Given the description of an element on the screen output the (x, y) to click on. 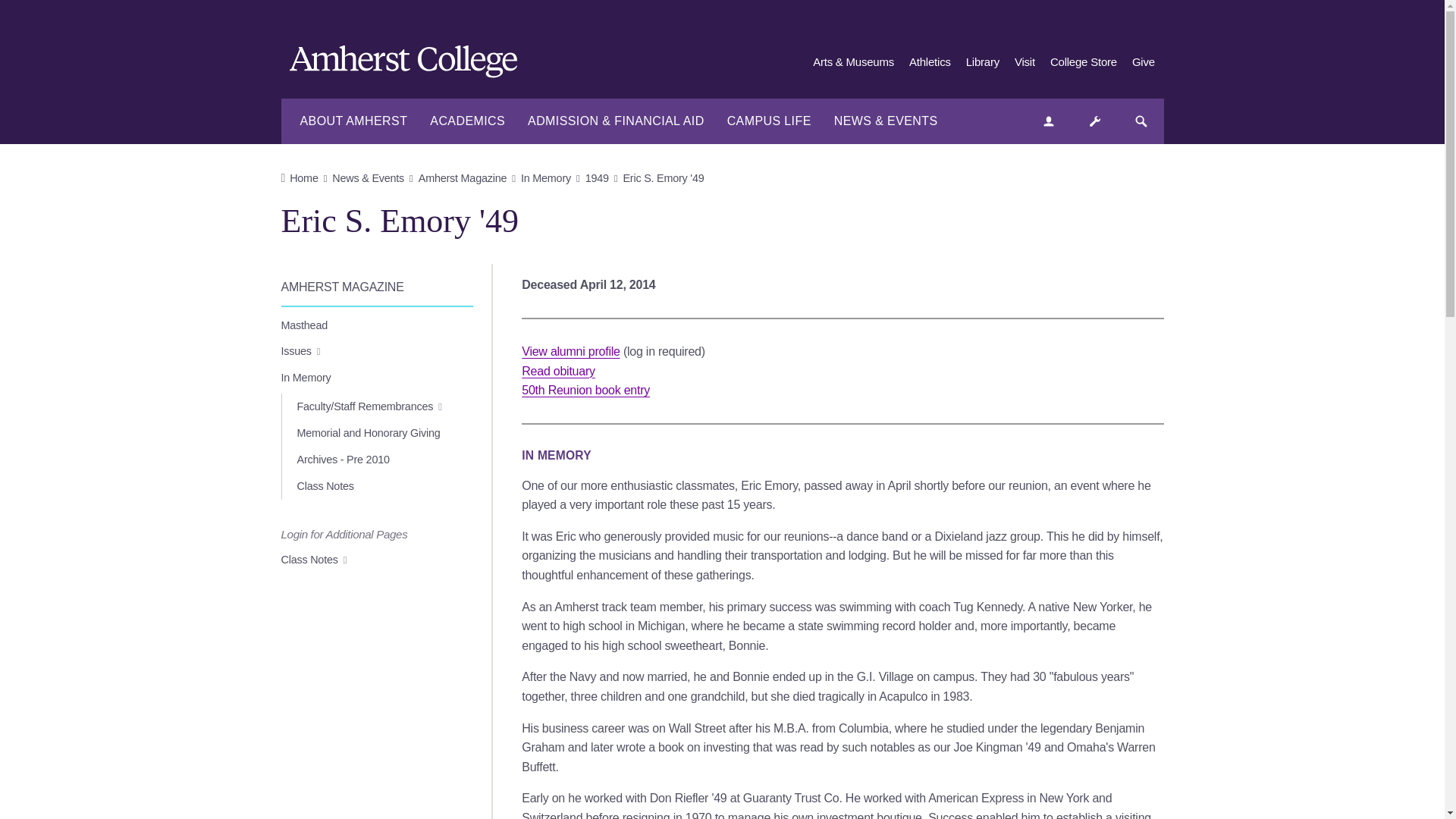
ACADEMICS (467, 121)
Amherst College (410, 64)
Athletics (929, 62)
Visit (1024, 62)
College Store (1082, 62)
Library (982, 62)
CAMPUS LIFE (768, 121)
Give (1143, 62)
ABOUT AMHERST (353, 121)
